Given the description of an element on the screen output the (x, y) to click on. 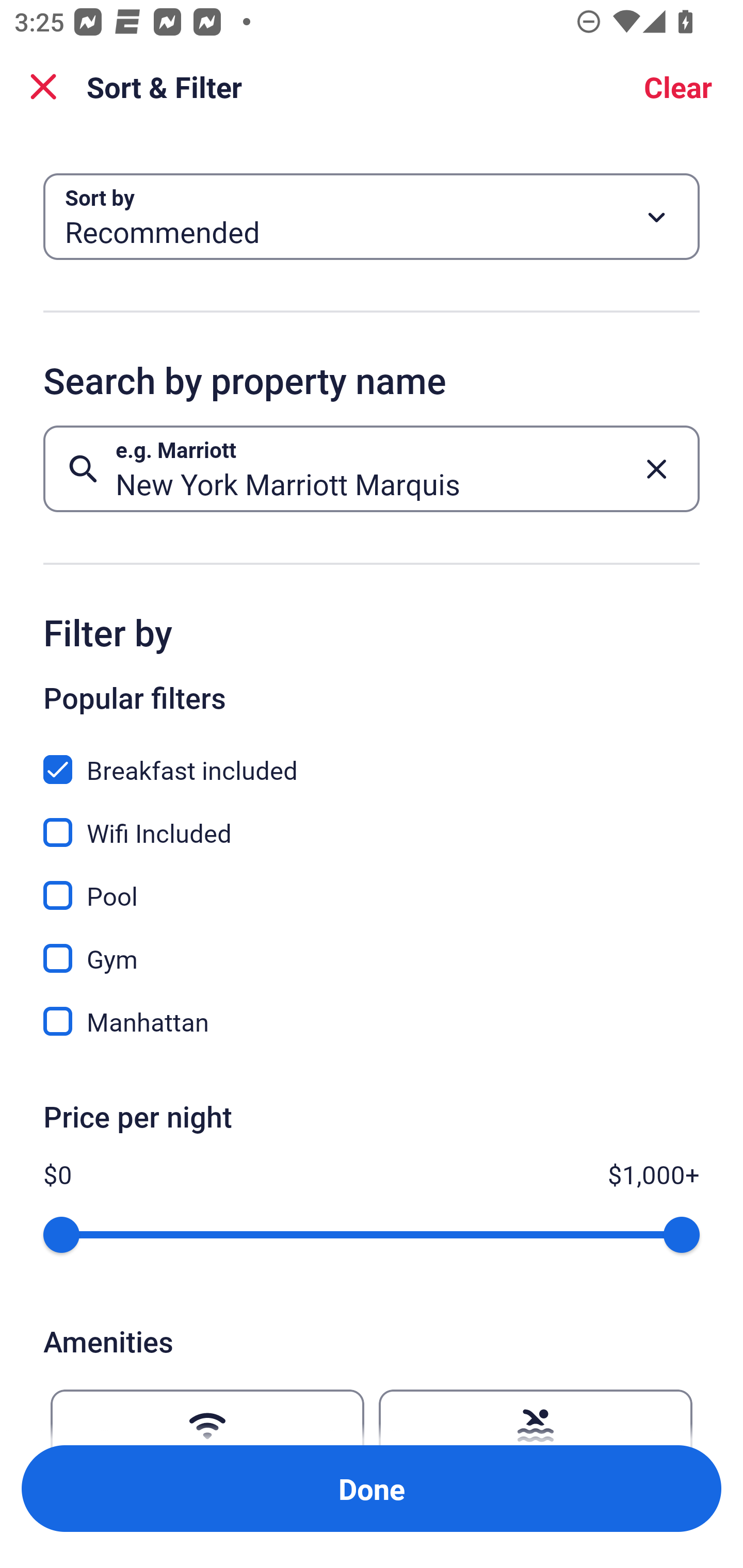
Close Sort and Filter (43, 86)
Clear (677, 86)
Sort by Button Recommended (371, 217)
e.g. Marriott Button New York Marriott Marquis (371, 468)
Breakfast included, Breakfast included (371, 757)
Wifi Included, Wifi Included (371, 821)
Pool, Pool (371, 883)
Gym, Gym (371, 946)
Manhattan, Manhattan (371, 1021)
Apply and close Sort and Filter Done (371, 1488)
